Given the description of an element on the screen output the (x, y) to click on. 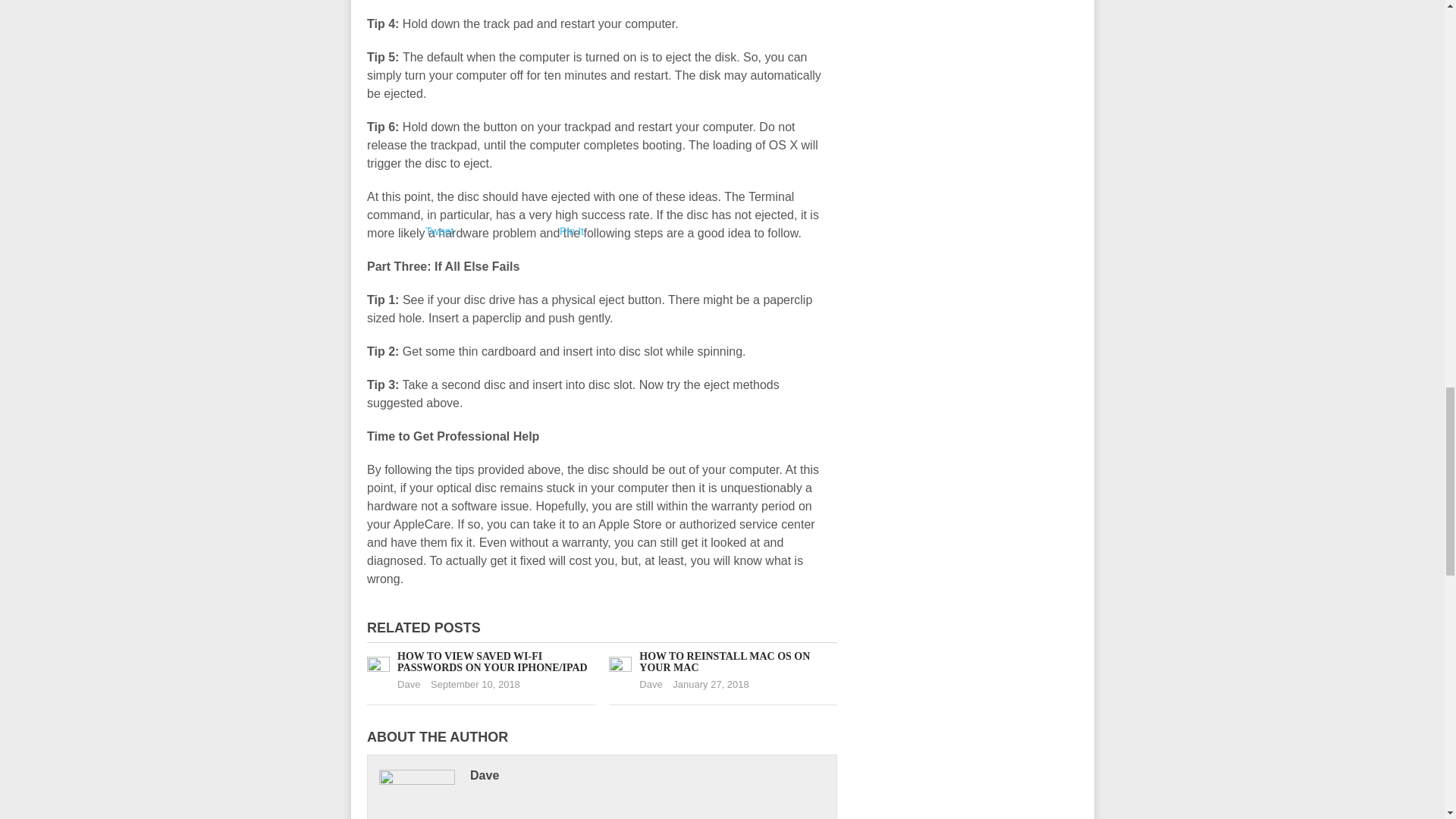
Dave (484, 775)
Dave (408, 684)
Dave (650, 684)
HOW TO REINSTALL MAC OS ON YOUR MAC (724, 661)
